Given the description of an element on the screen output the (x, y) to click on. 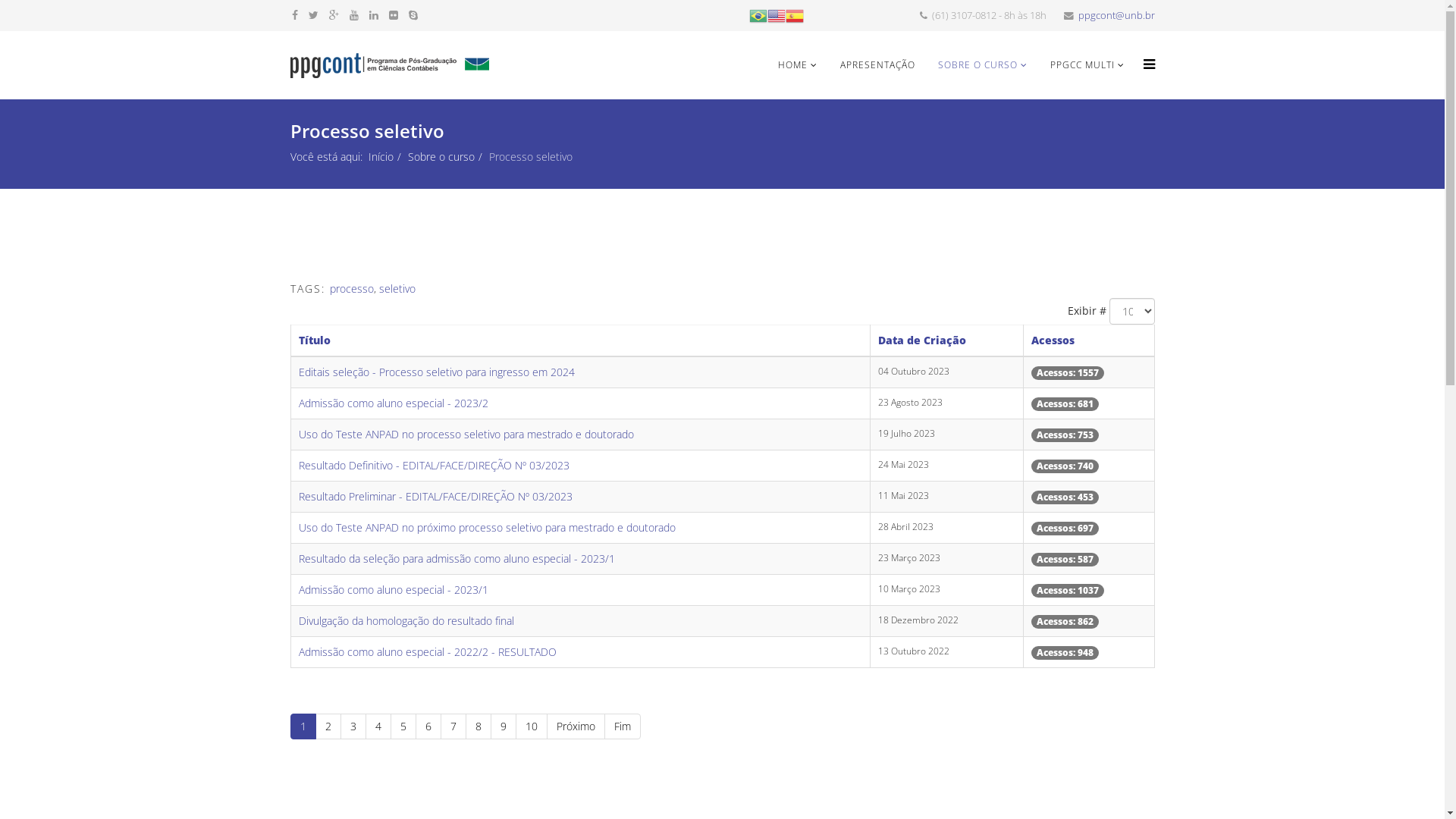
6 Element type: text (428, 726)
Spanish Element type: hover (794, 14)
ppgcont@unb.br Element type: text (1116, 15)
English Element type: hover (776, 14)
Acessos Element type: text (1052, 339)
8 Element type: text (478, 726)
7 Element type: text (452, 726)
10 Element type: text (531, 726)
processo Element type: text (351, 288)
3 Element type: text (352, 726)
1 Element type: text (302, 726)
Portuguese Element type: hover (758, 14)
5 Element type: text (402, 726)
Fim Element type: text (621, 726)
SOBRE O CURSO Element type: text (982, 65)
HOME Element type: text (796, 65)
4 Element type: text (378, 726)
seletivo Element type: text (397, 288)
9 Element type: text (502, 726)
PPGCC MULTI Element type: text (1086, 65)
2 Element type: text (328, 726)
